Given the description of an element on the screen output the (x, y) to click on. 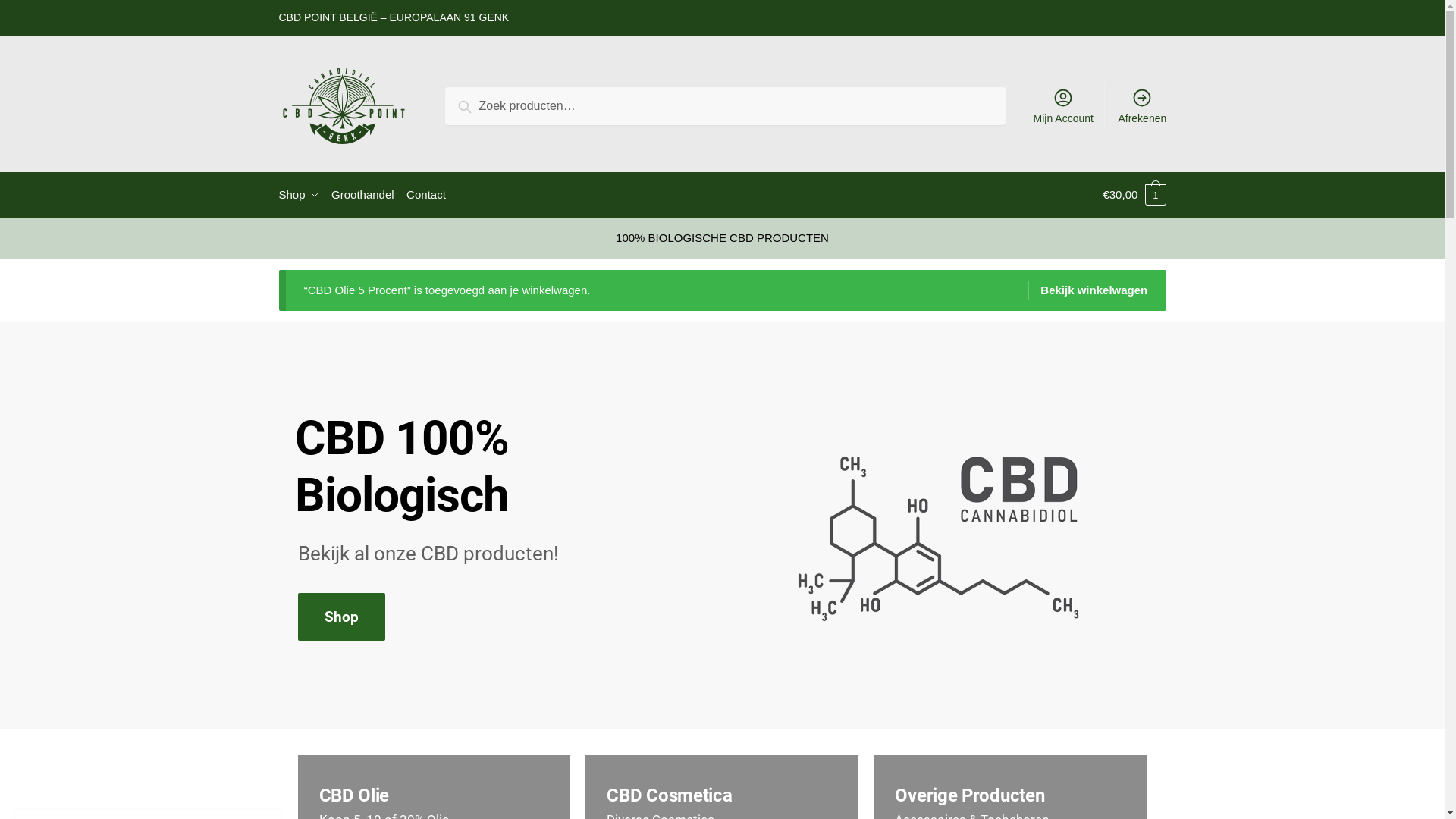
Shop Element type: text (340, 616)
Mijn Account Element type: text (1062, 105)
Zoeken Element type: text (482, 104)
Bekijk winkelwagen Element type: text (1087, 290)
Shop Element type: text (302, 194)
Groothandel Element type: text (362, 194)
Afrekenen Element type: text (1141, 105)
Contact Element type: text (425, 194)
